Given the description of an element on the screen output the (x, y) to click on. 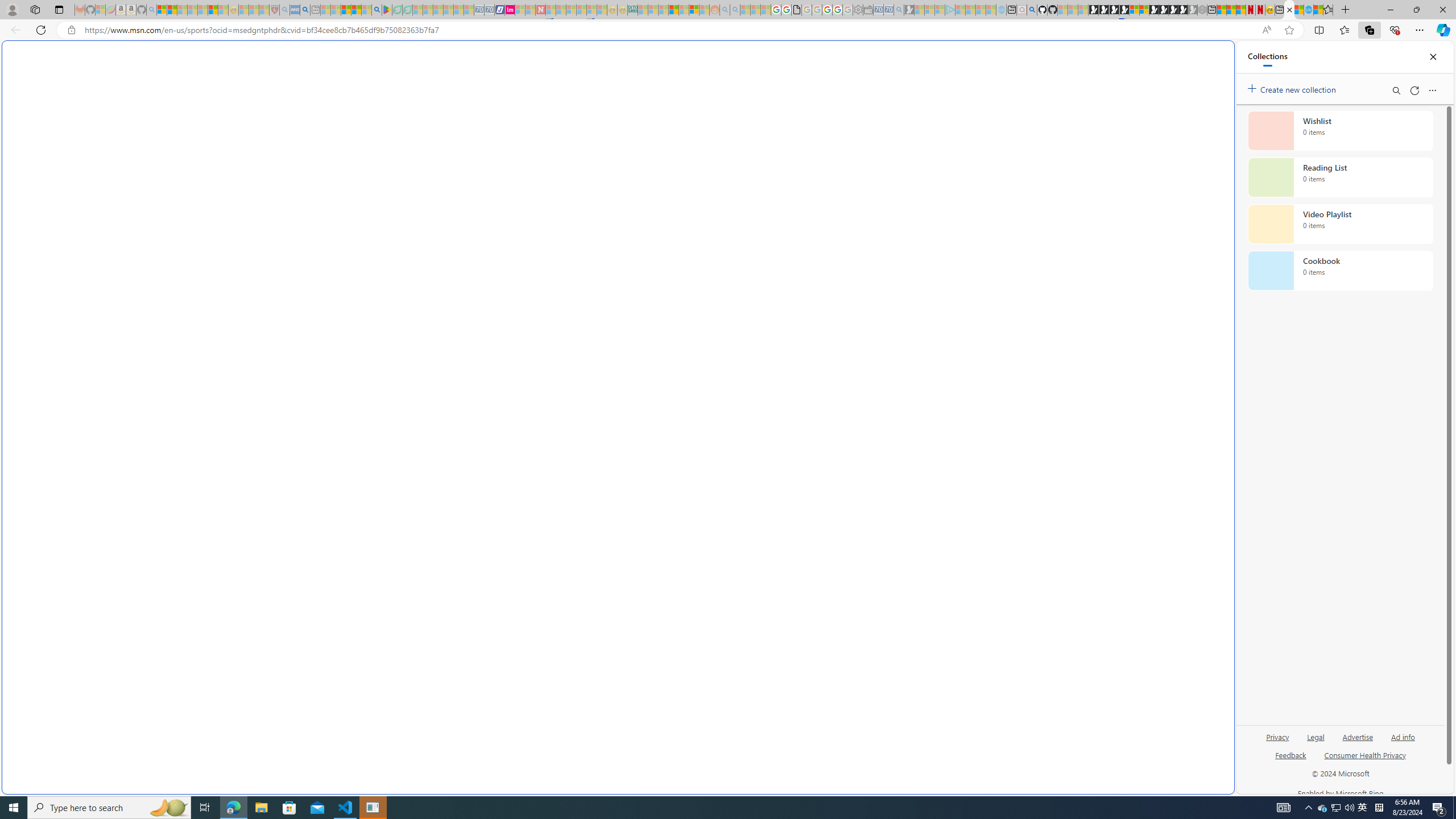
Create new collection (1293, 87)
Frequently visited (965, 151)
